Given the description of an element on the screen output the (x, y) to click on. 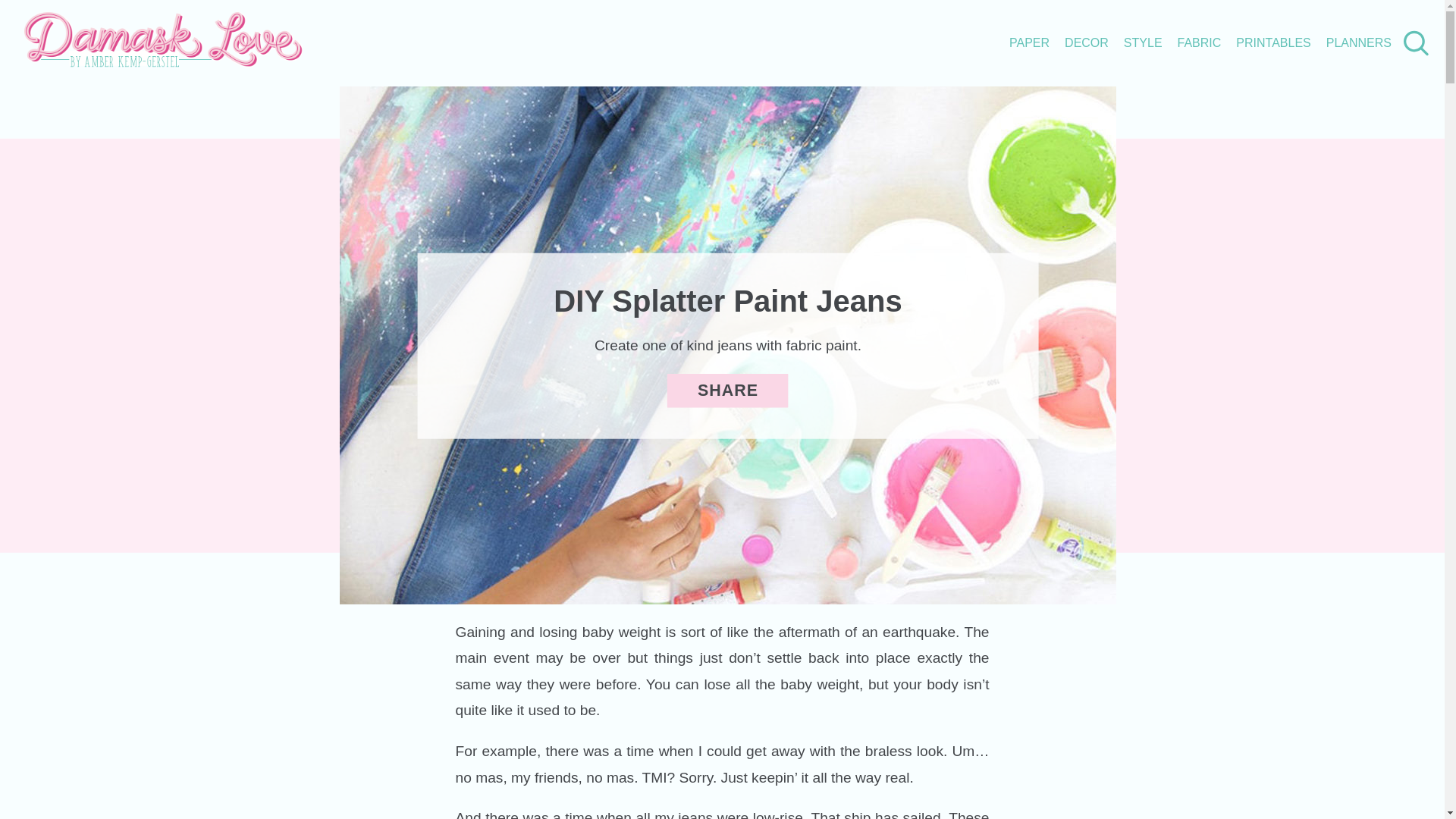
SHARE (727, 390)
DECOR (1086, 42)
PLANNERS (1358, 42)
PAPER (1029, 42)
PRINTABLES (1273, 42)
Damask Love (163, 62)
STYLE (1142, 42)
FABRIC (1199, 42)
